Given the description of an element on the screen output the (x, y) to click on. 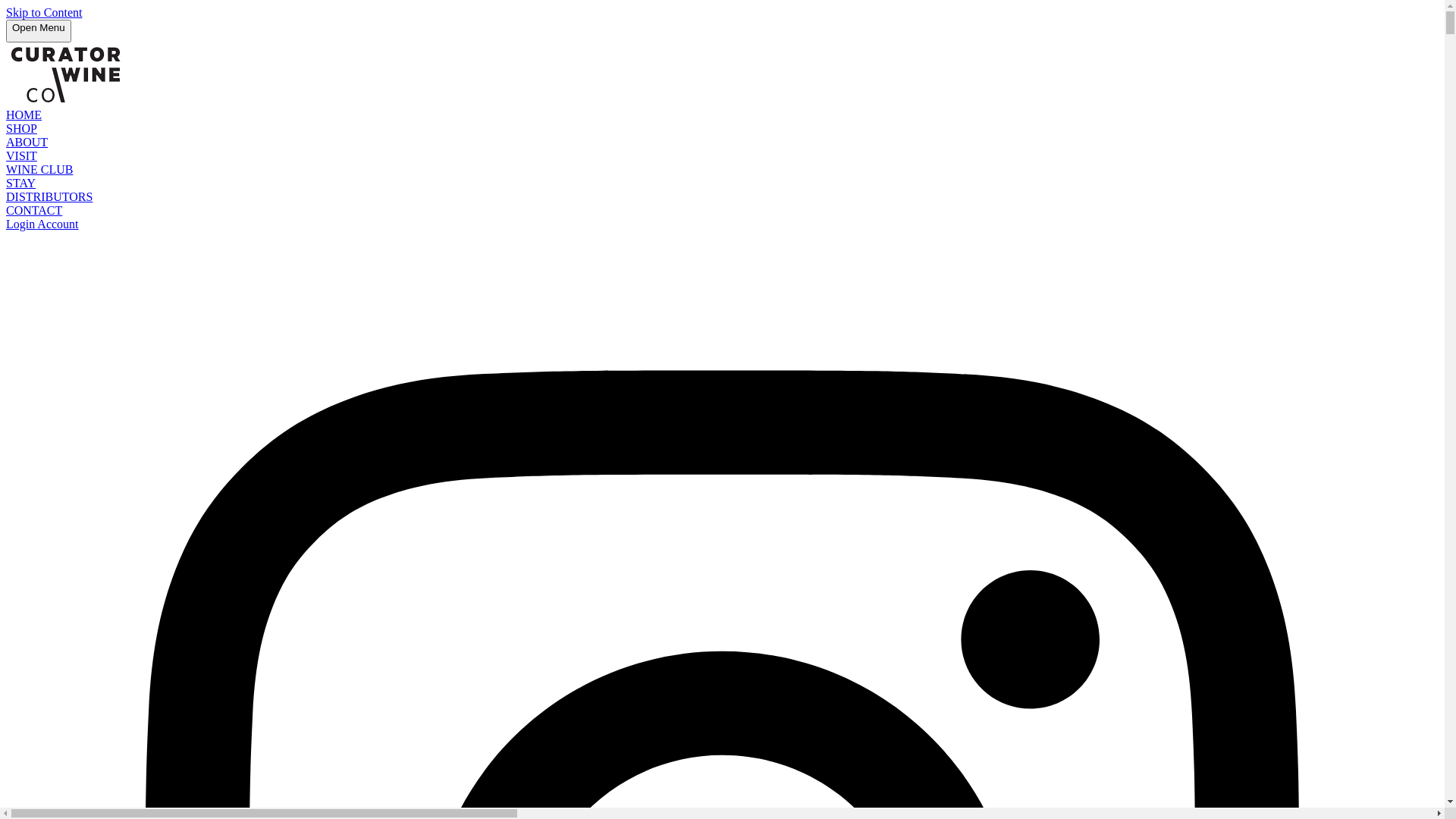
STAY Element type: text (20, 182)
WINE CLUB Element type: text (39, 169)
Skip to Content Element type: text (43, 12)
ABOUT Element type: text (26, 141)
DISTRIBUTORS Element type: text (49, 196)
HOME Element type: text (23, 114)
Login Account Element type: text (42, 223)
VISIT Element type: text (21, 155)
CONTACT Element type: text (34, 209)
SHOP Element type: text (21, 128)
Open Menu Element type: text (38, 30)
